Given the description of an element on the screen output the (x, y) to click on. 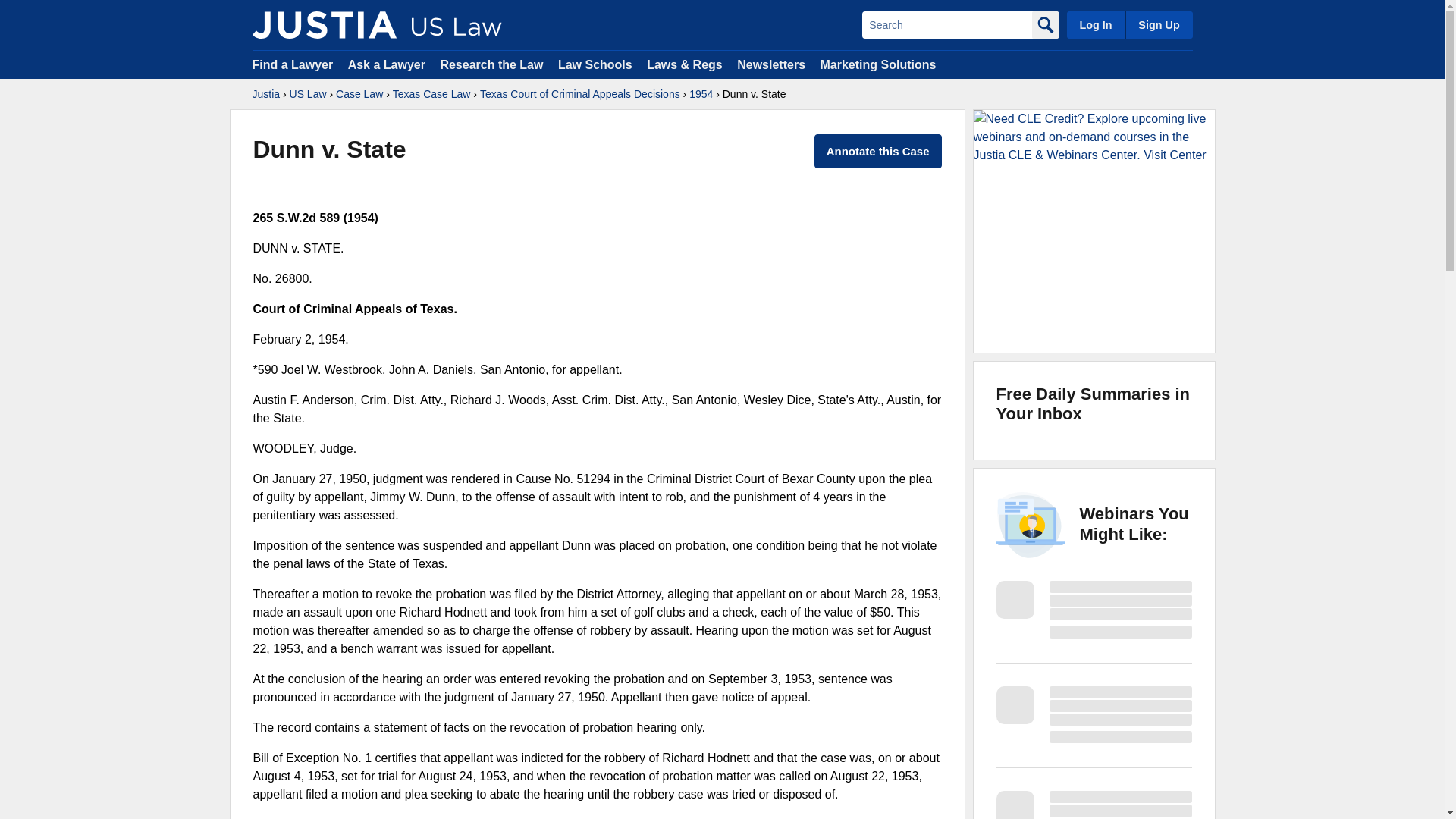
1954 (700, 93)
Find a Lawyer (292, 64)
Marketing Solutions (877, 64)
Case Law (359, 93)
Search (945, 24)
Law Schools (594, 64)
Texas Case Law (431, 93)
Research the Law (491, 64)
Justia (265, 93)
Log In (1094, 24)
Newsletters (770, 64)
Justia (323, 24)
Sign Up (1158, 24)
Annotate this Case (877, 151)
US Law (307, 93)
